Given the description of an element on the screen output the (x, y) to click on. 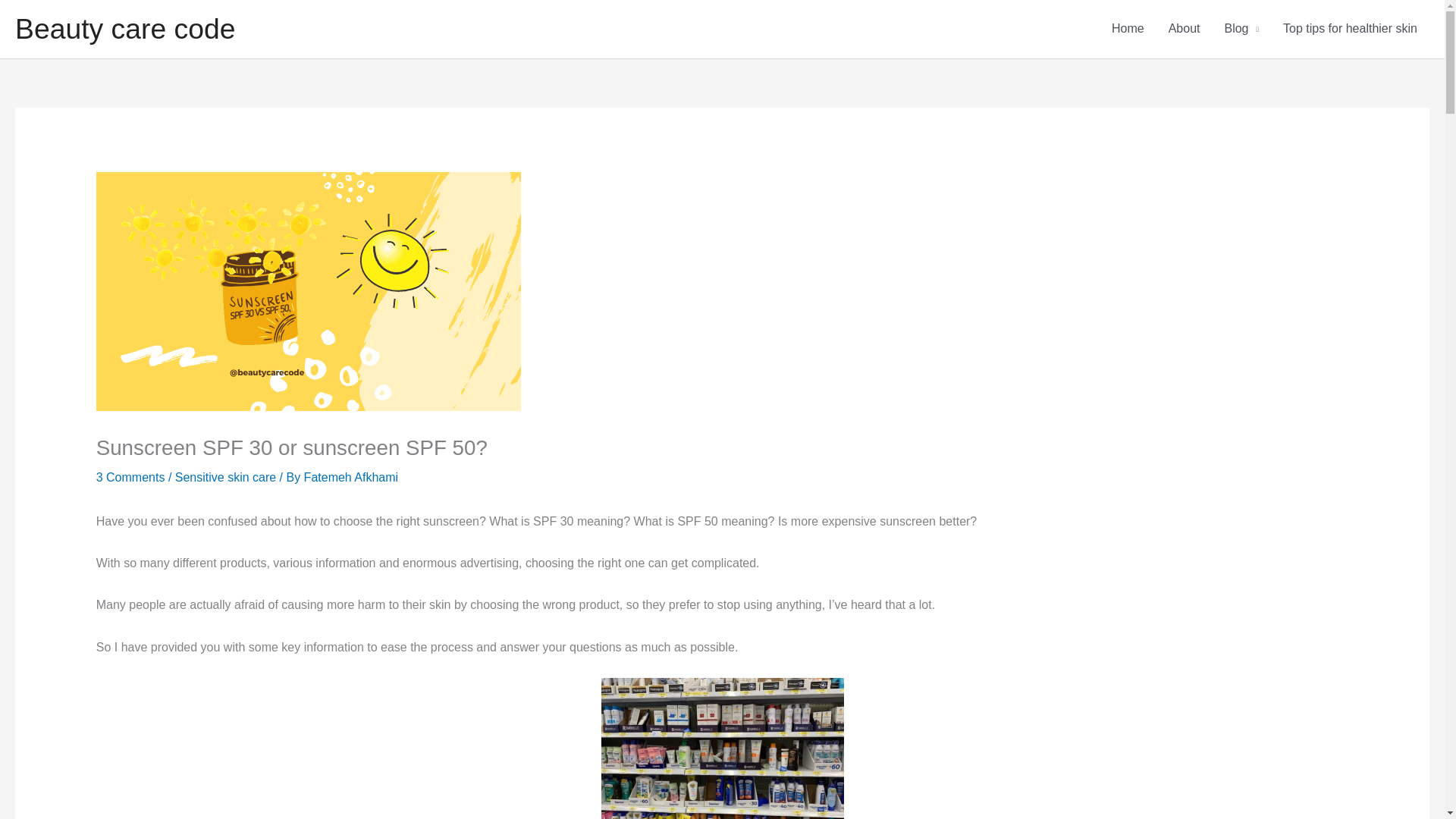
Blog (1241, 29)
3 Comments (130, 476)
Home (1127, 29)
Sensitive skin care (225, 476)
Top tips for healthier skin (1350, 29)
Beauty care code (124, 29)
About (1184, 29)
View all posts by Fatemeh Afkhami (351, 476)
Fatemeh Afkhami (351, 476)
